Given the description of an element on the screen output the (x, y) to click on. 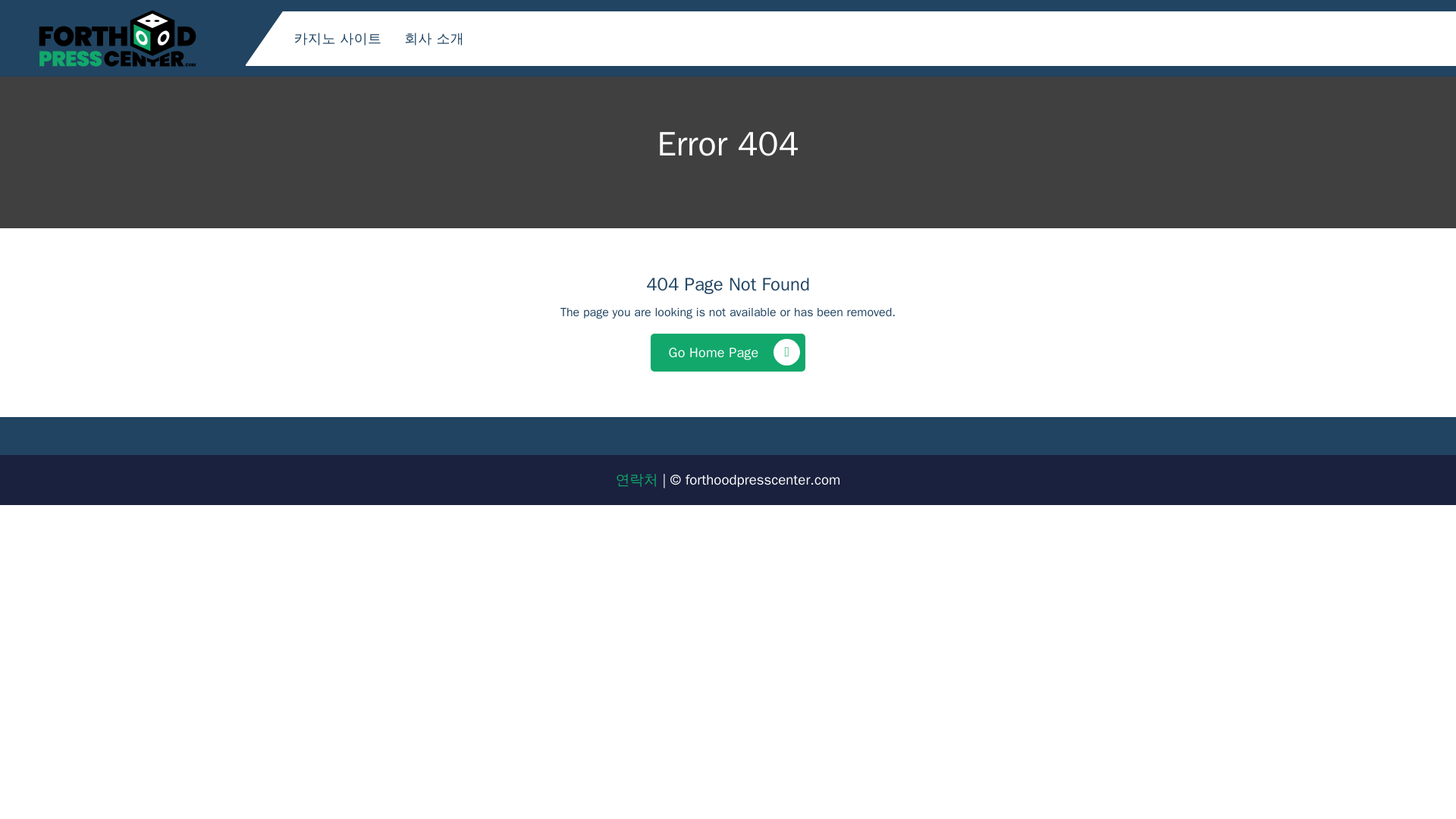
Go Home Page (728, 352)
